Given the description of an element on the screen output the (x, y) to click on. 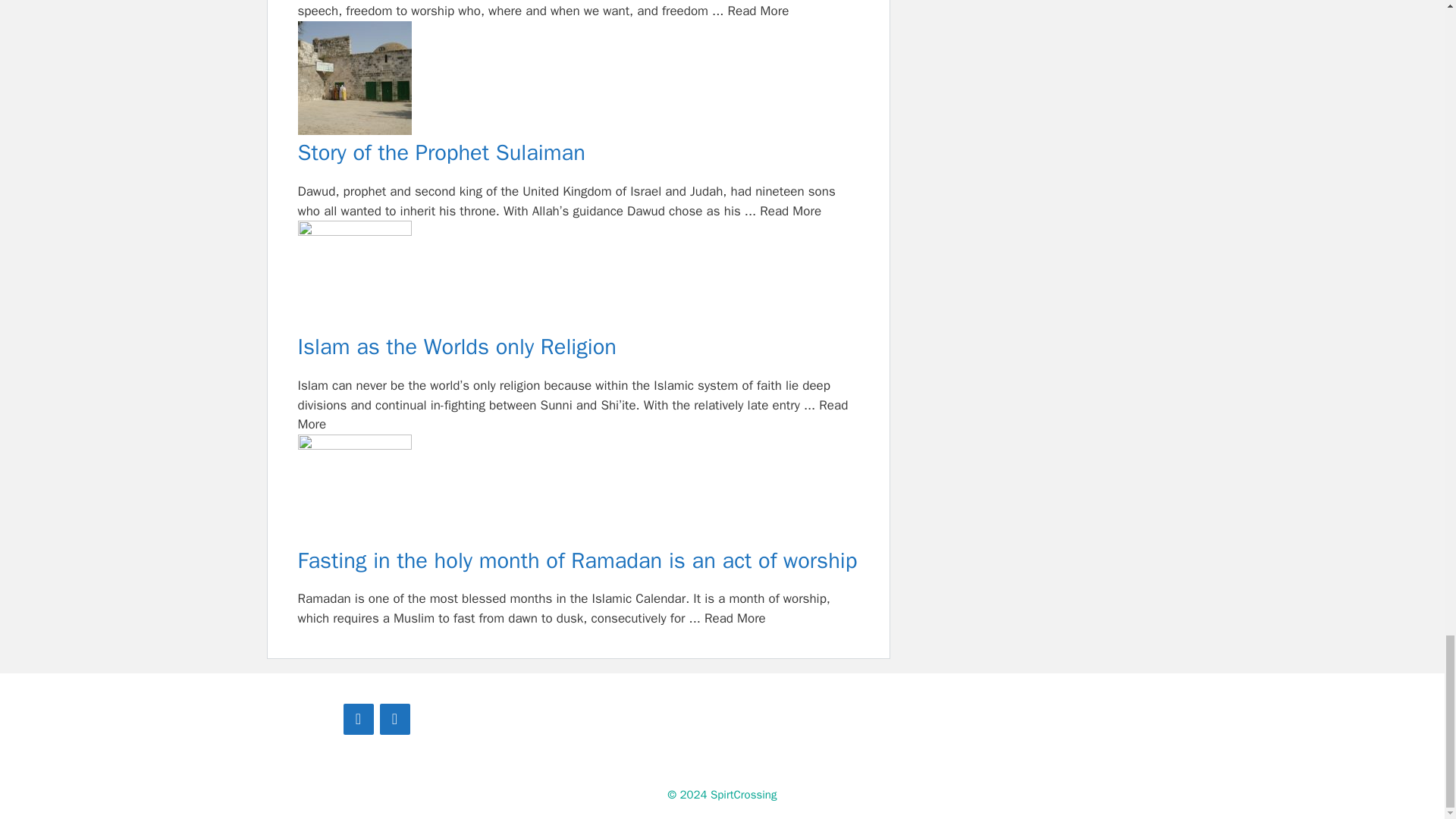
Fasting in the holy month of Ramadan is an act of worship (578, 490)
Facebook (357, 718)
Story of the Prophet Sulaiman (578, 153)
Story of the Prophet Sulaiman (578, 80)
Islam as the Worlds only Religion (578, 277)
Fasting in the holy month of Ramadan is an act of worship (578, 560)
Islam as the Worlds only Religion (578, 347)
Twitter (393, 718)
